Given the description of an element on the screen output the (x, y) to click on. 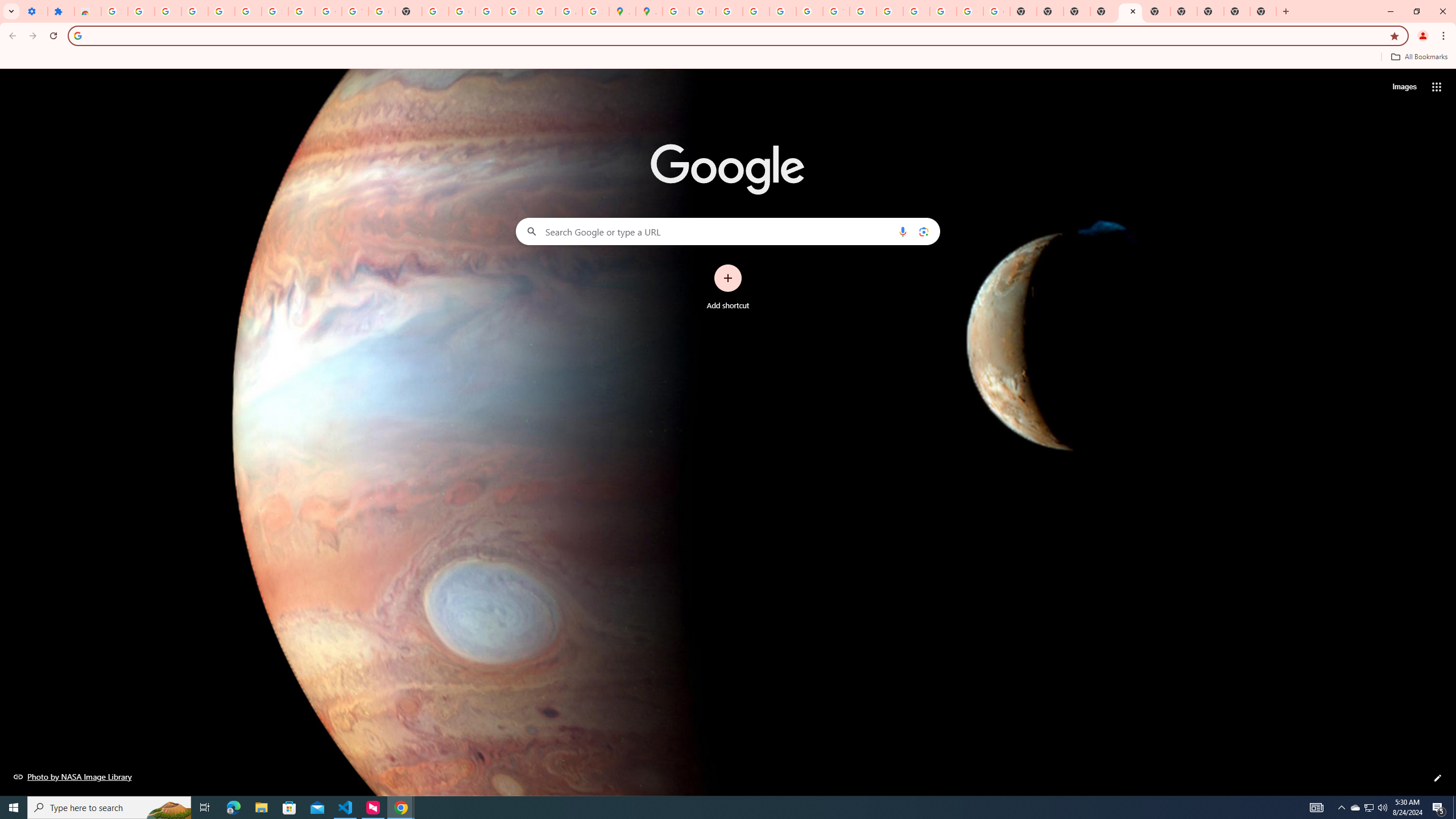
All Bookmarks (1418, 56)
Search Google or type a URL (727, 230)
Search by image (922, 230)
Sign in - Google Accounts (515, 11)
Privacy Help Center - Policies Help (756, 11)
Photo by NASA Image Library (72, 776)
Safety in Our Products - Google Safety Center (595, 11)
